Given the description of an element on the screen output the (x, y) to click on. 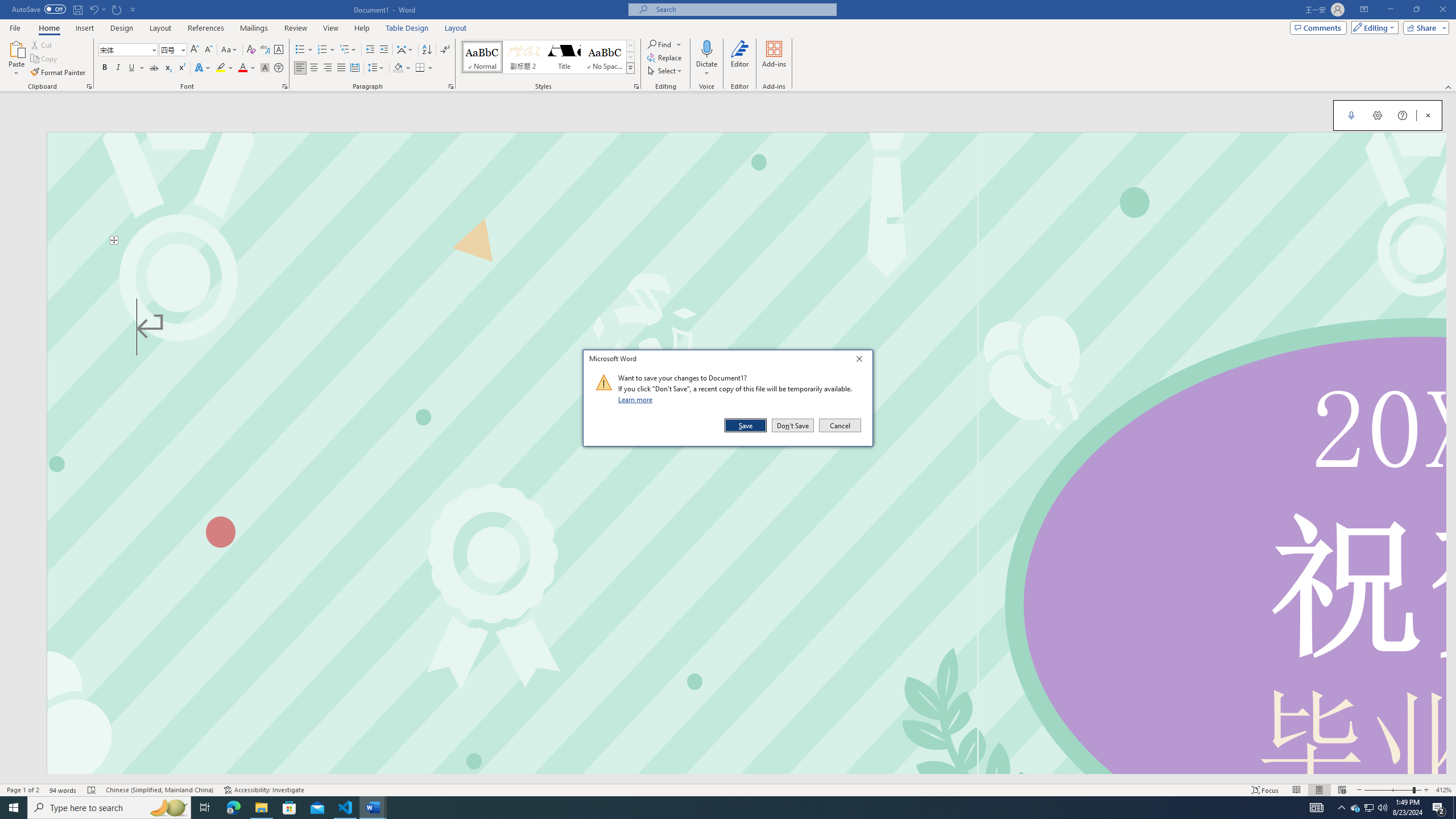
First Page Header -Section 1- (745, 187)
